Given the description of an element on the screen output the (x, y) to click on. 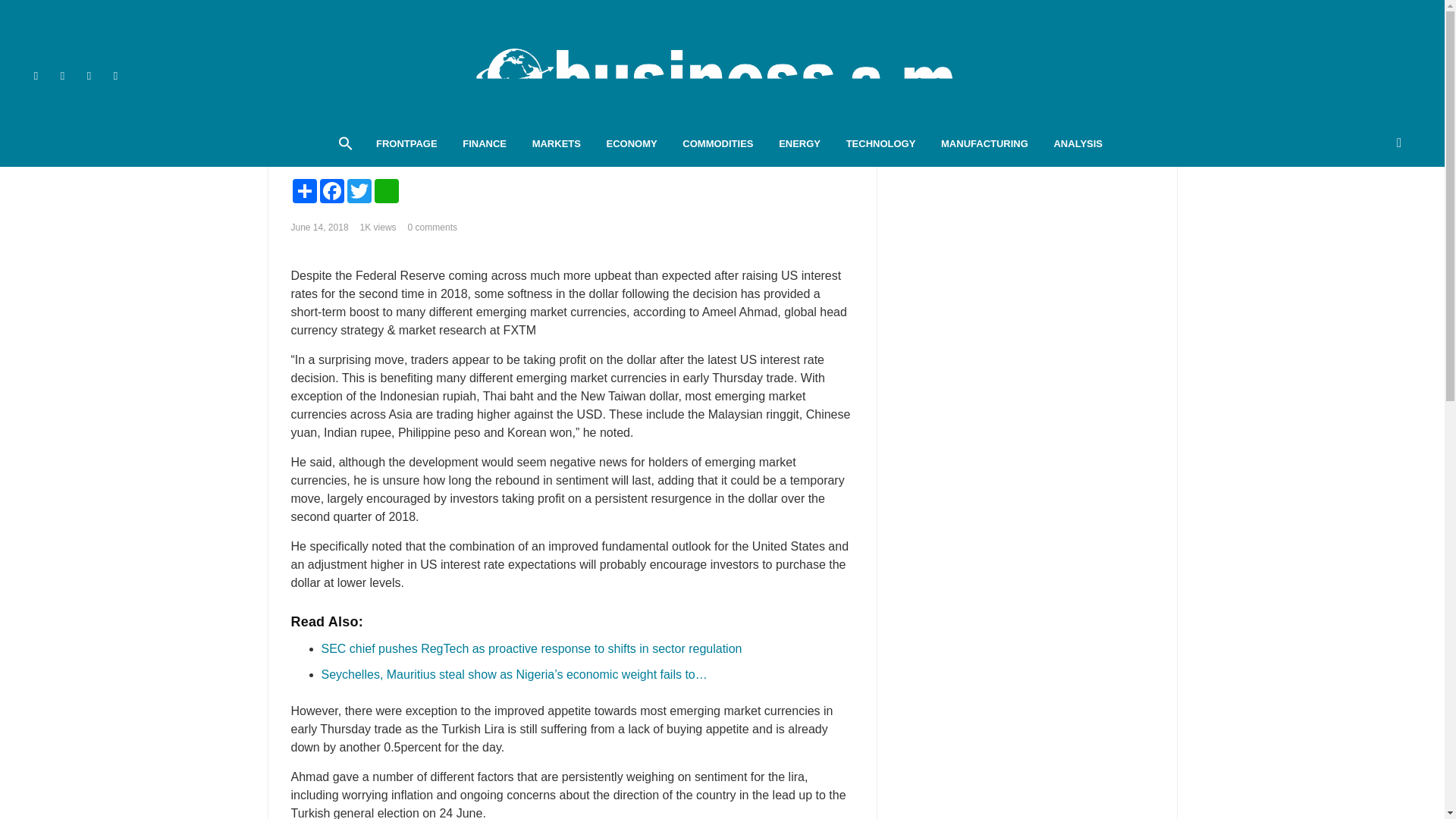
youtube (88, 75)
FINANCE (484, 144)
email (115, 75)
Businessamlive (722, 76)
facebook (36, 75)
FRONTPAGE (406, 144)
twitter (62, 75)
Instagram (142, 75)
